Given the description of an element on the screen output the (x, y) to click on. 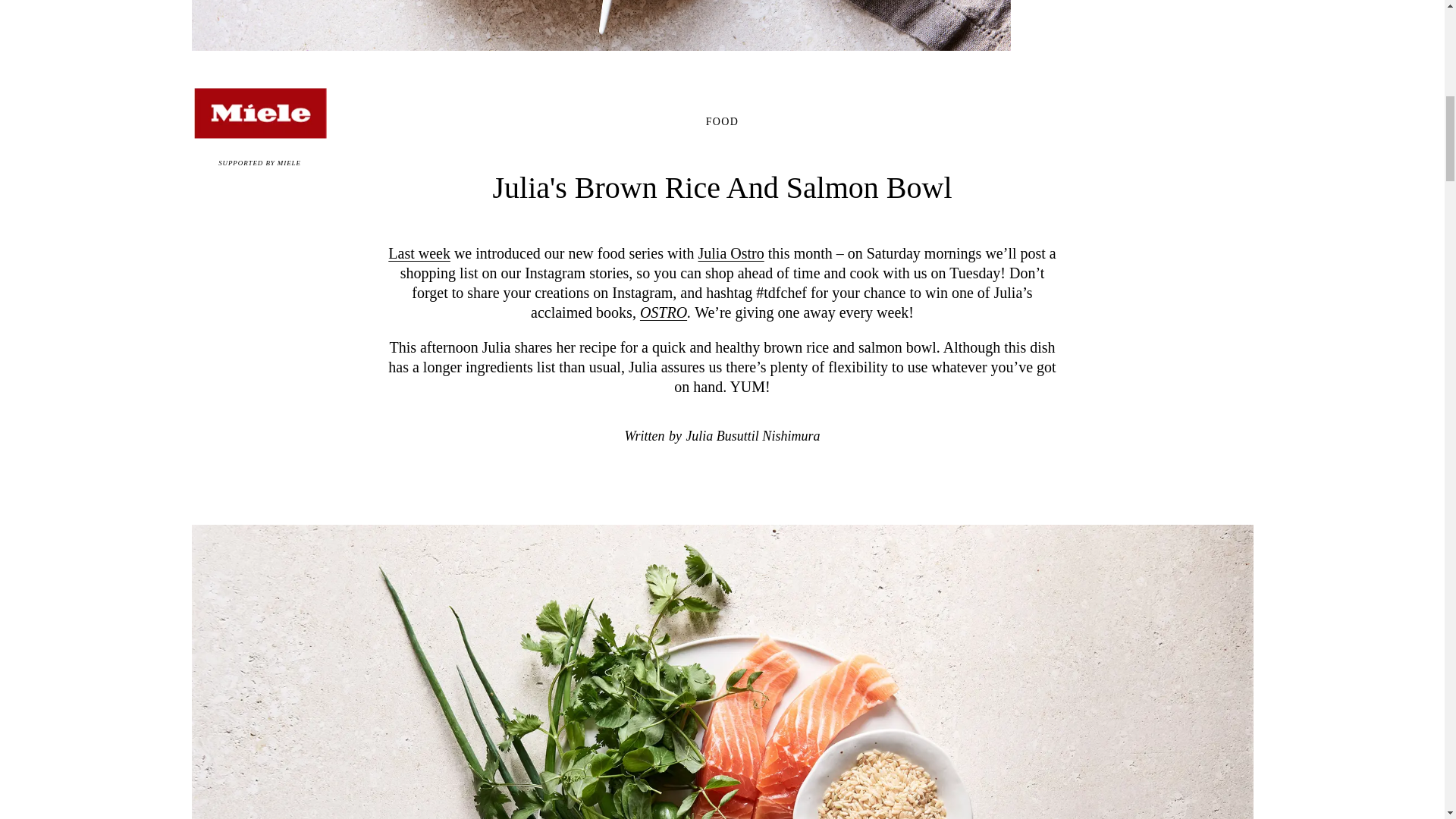
Last week (418, 252)
OSTRO (663, 312)
Julia Ostro (731, 252)
SUPPORTED BY MIELE (258, 121)
